Given the description of an element on the screen output the (x, y) to click on. 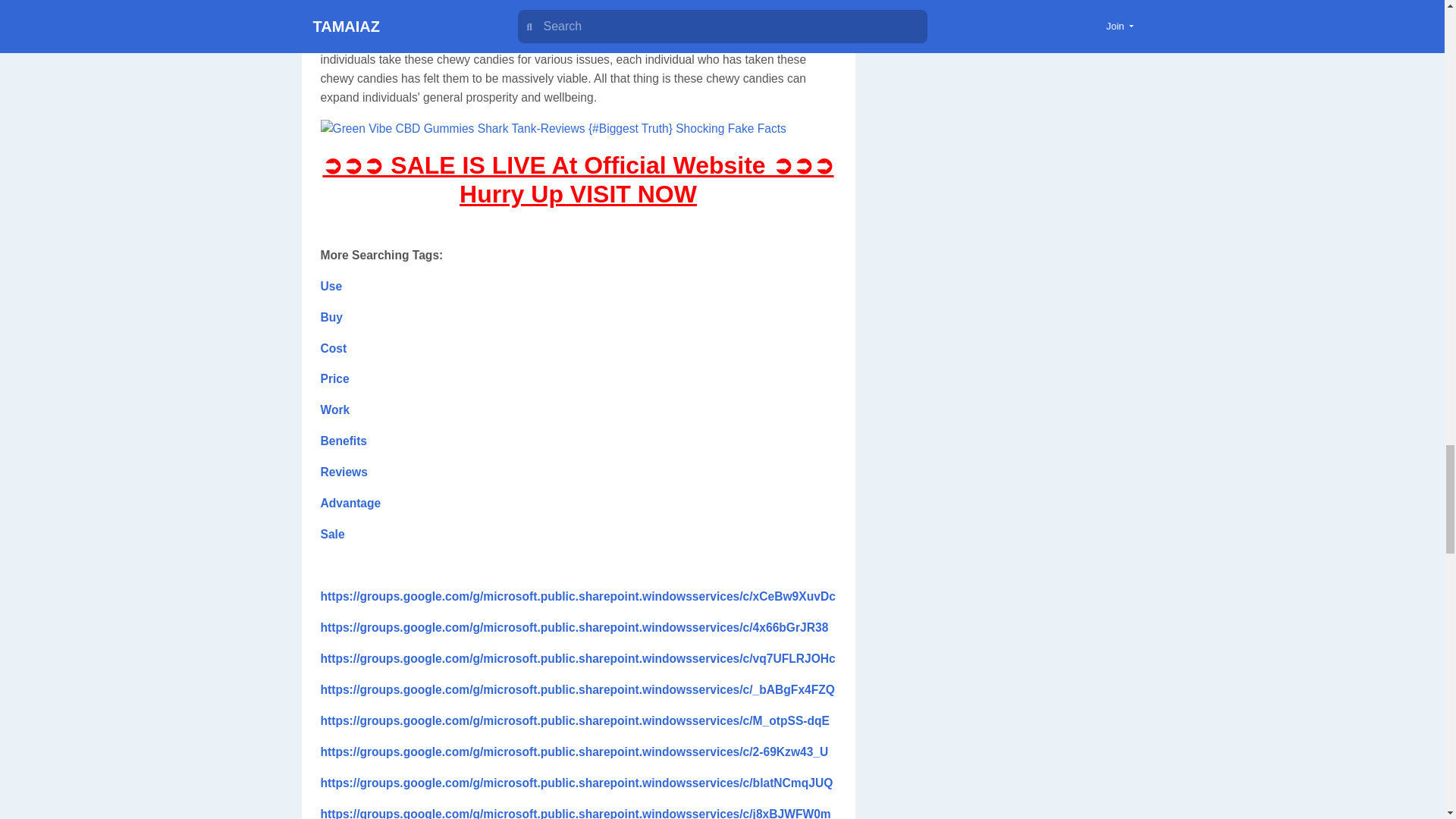
Buy (331, 317)
Use (331, 286)
Cost (333, 347)
